Given the description of an element on the screen output the (x, y) to click on. 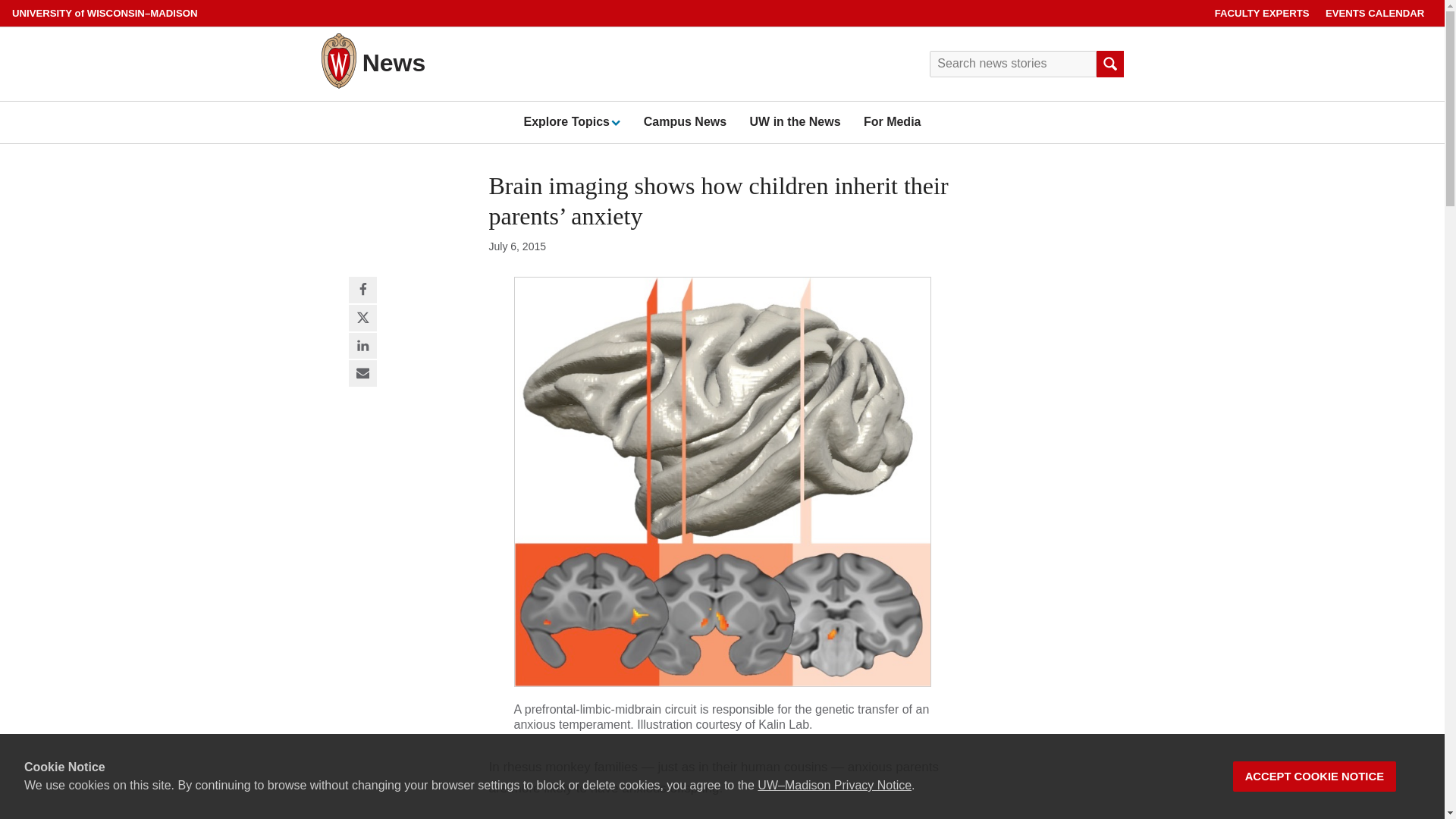
Explore TopicsExpand (571, 121)
For Media (892, 121)
Submit search (1109, 63)
Expand (615, 122)
Skip to main content (3, 3)
Share via Facebook (362, 290)
Share via Linked In (362, 345)
ACCEPT COOKIE NOTICE (1314, 776)
EVENTS CALENDAR (1374, 13)
Campus News (684, 121)
Share via X, formerly Twitter (362, 318)
FACULTY EXPERTS (1262, 13)
News (394, 62)
Share via email (362, 373)
UW in the News (795, 121)
